Given the description of an element on the screen output the (x, y) to click on. 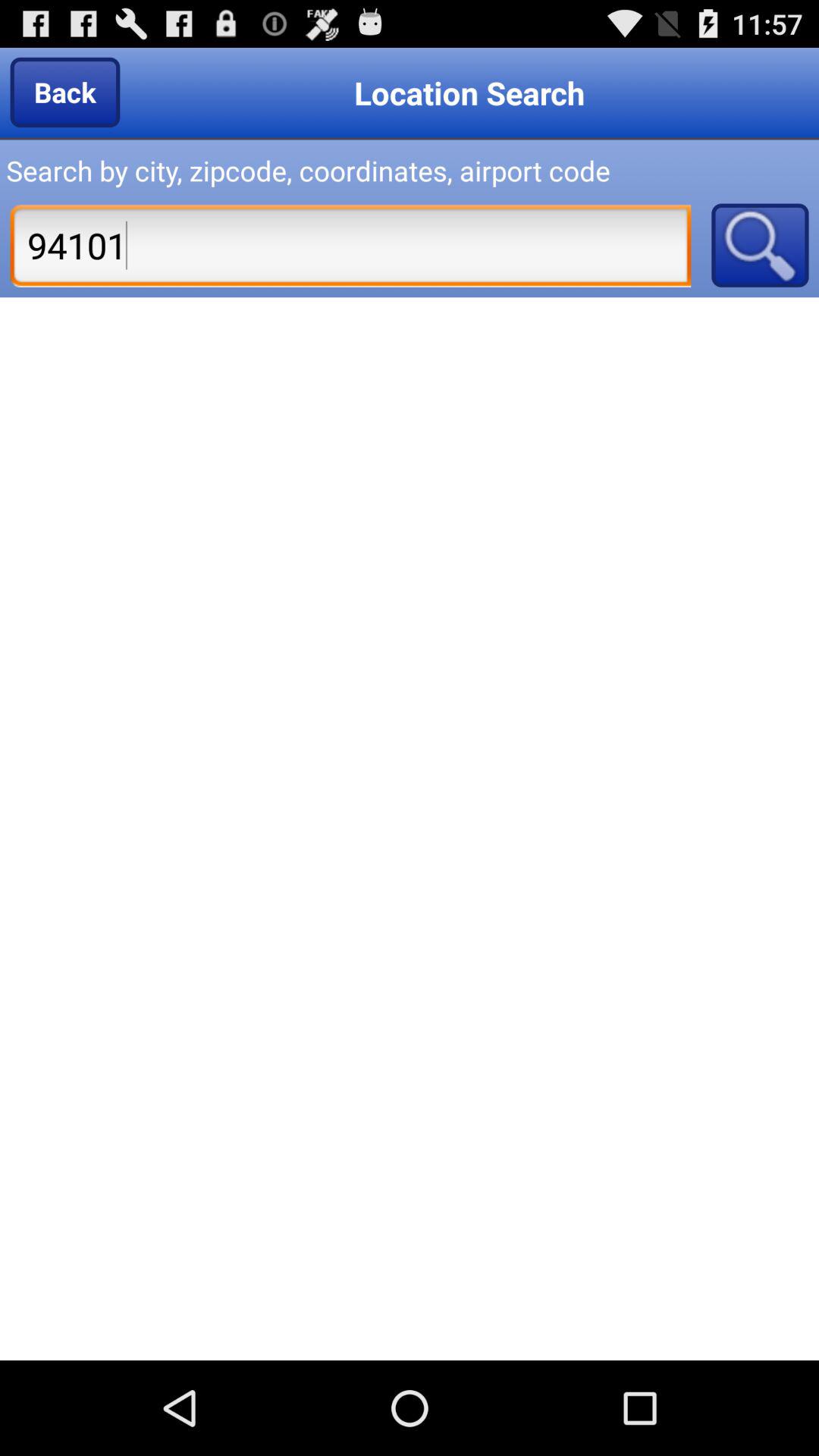
search (759, 245)
